Given the description of an element on the screen output the (x, y) to click on. 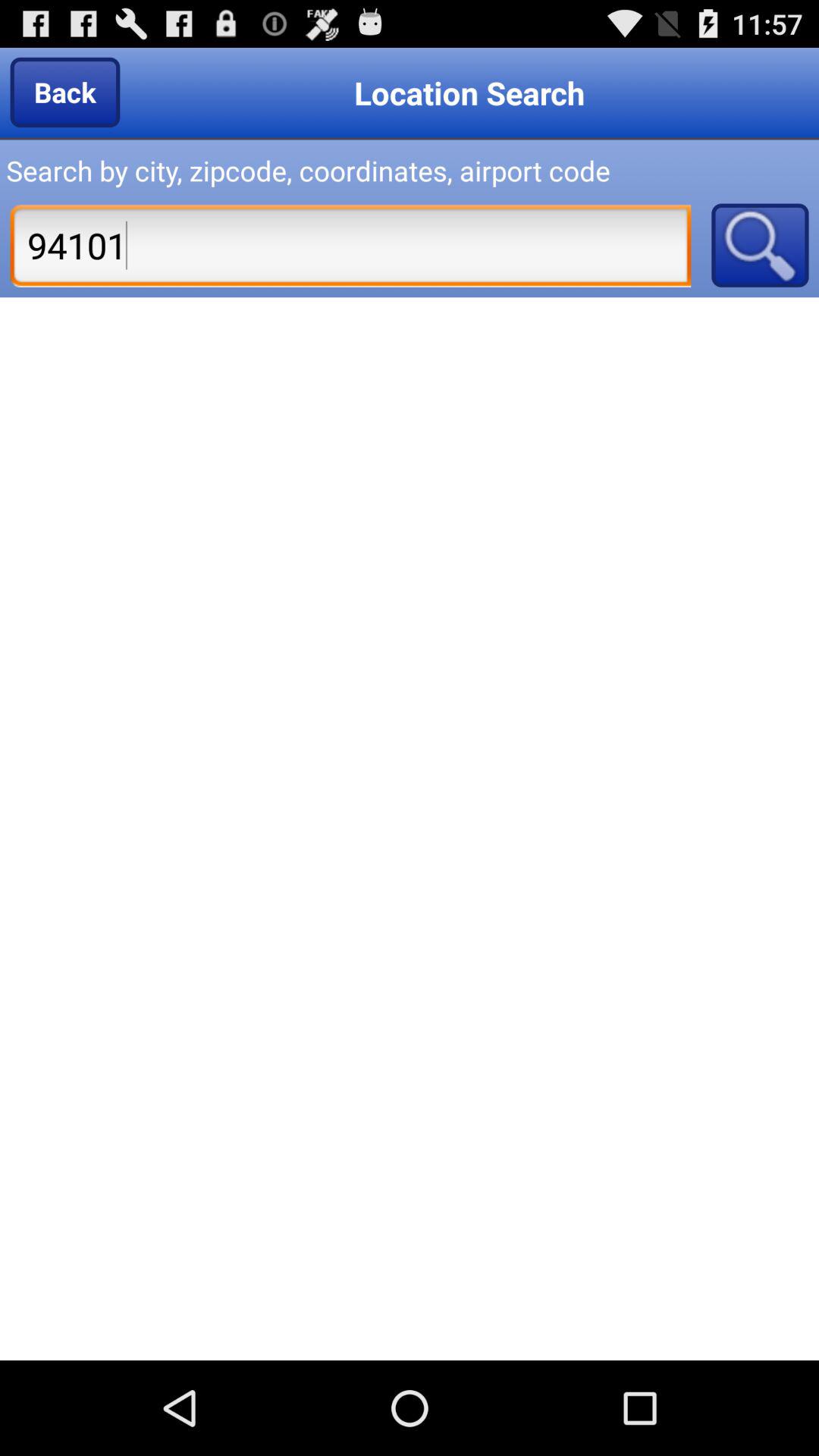
search (759, 245)
